Given the description of an element on the screen output the (x, y) to click on. 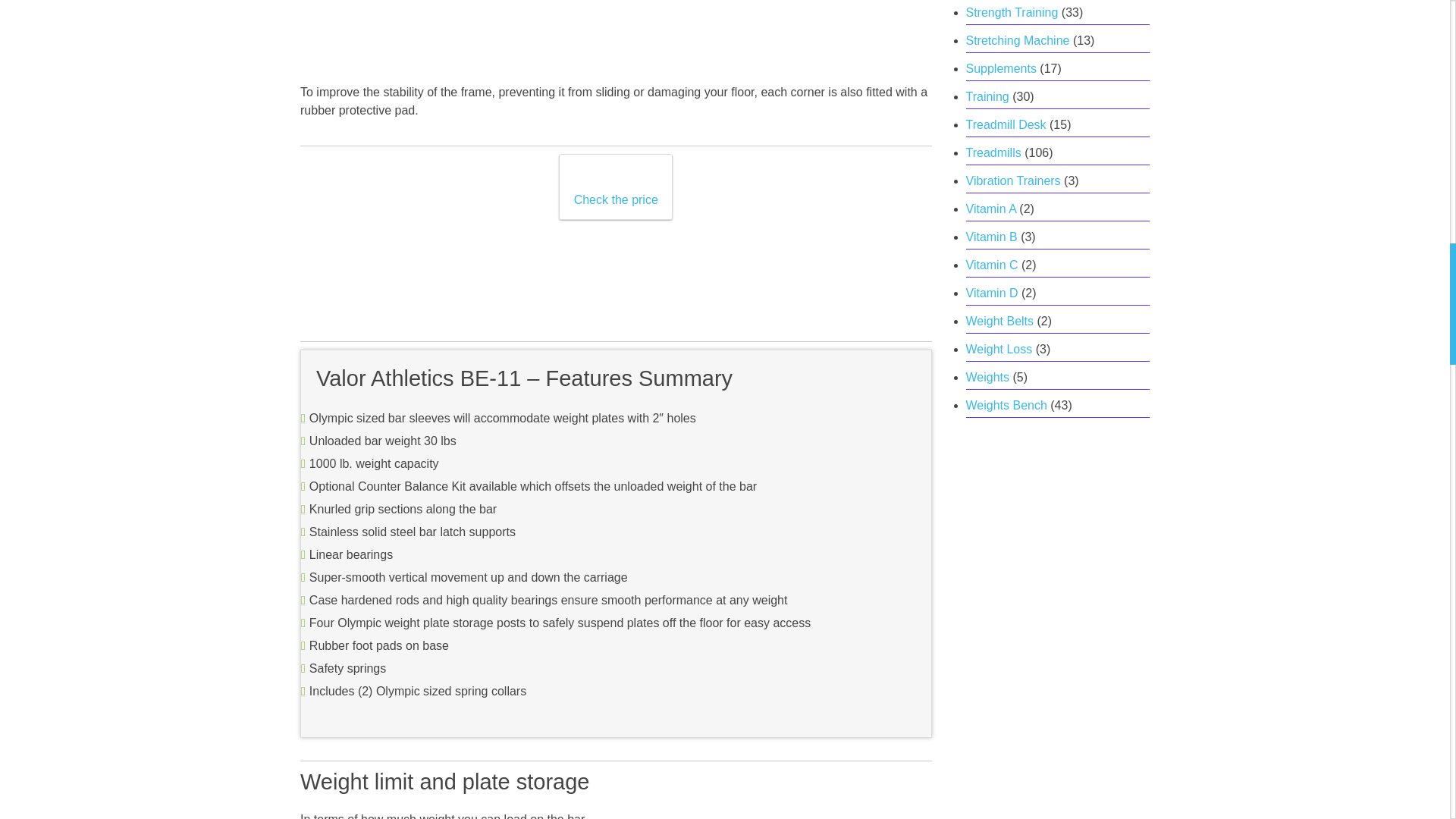
Check the price (615, 188)
